Given the description of an element on the screen output the (x, y) to click on. 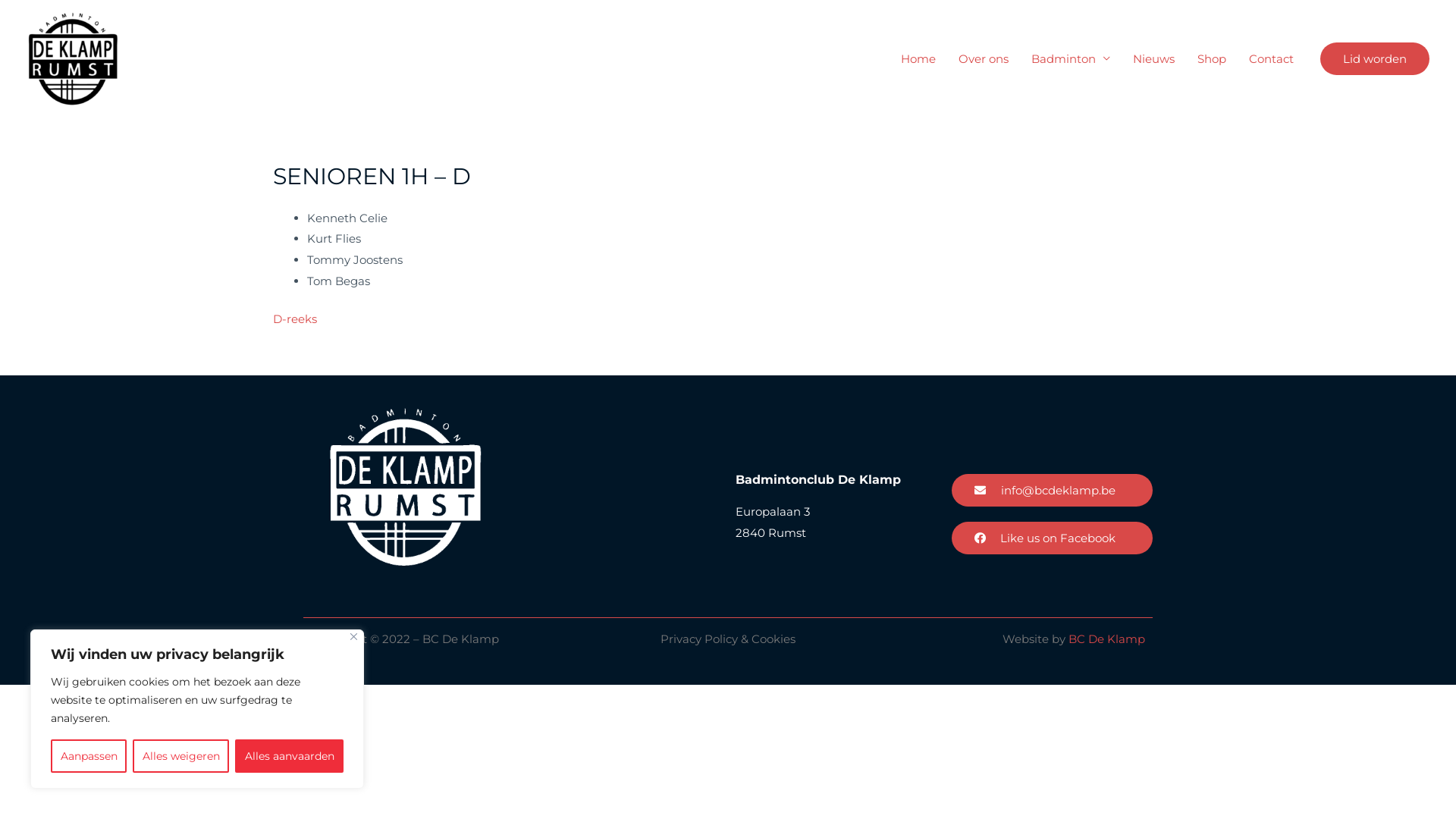
Aanpassen Element type: text (88, 755)
Nieuws Element type: text (1153, 57)
Contact Element type: text (1271, 57)
Over ons Element type: text (983, 57)
Alles aanvaarden Element type: text (289, 755)
BC De Klamp Element type: text (1106, 638)
Lid worden Element type: text (1374, 58)
Home Element type: text (918, 57)
Shop Element type: text (1211, 57)
Badminton Element type: text (1070, 57)
D-reeks Element type: text (294, 318)
Alles weigeren Element type: text (180, 755)
Like us on Facebook Element type: text (1051, 537)
info@bcdeklamp.be Element type: text (1051, 489)
